Given the description of an element on the screen output the (x, y) to click on. 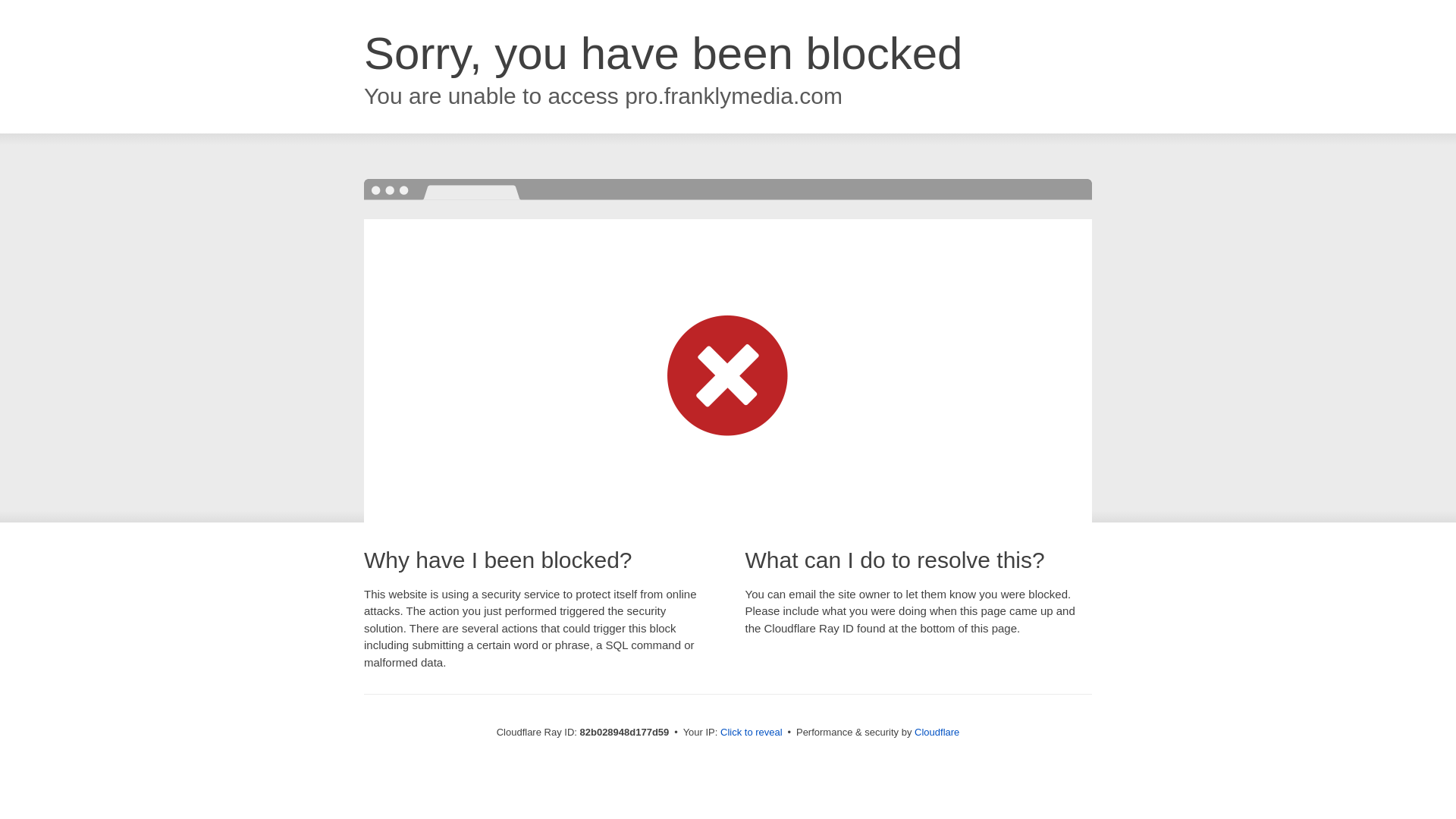
Cloudflare Element type: text (936, 731)
Click to reveal Element type: text (751, 732)
